Given the description of an element on the screen output the (x, y) to click on. 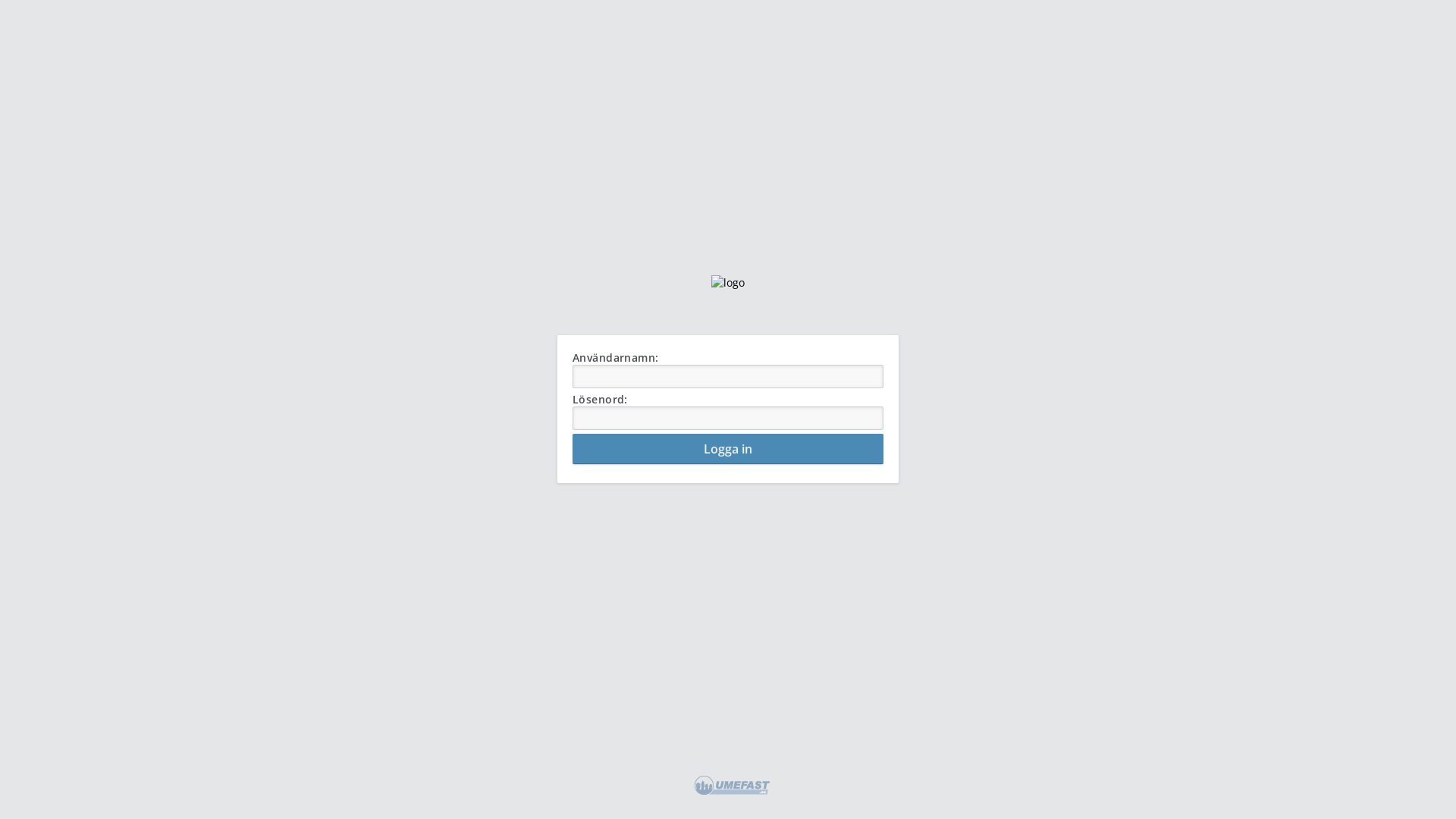
Umefast Element type: text (731, 784)
Logga in Element type: text (727, 448)
